Given the description of an element on the screen output the (x, y) to click on. 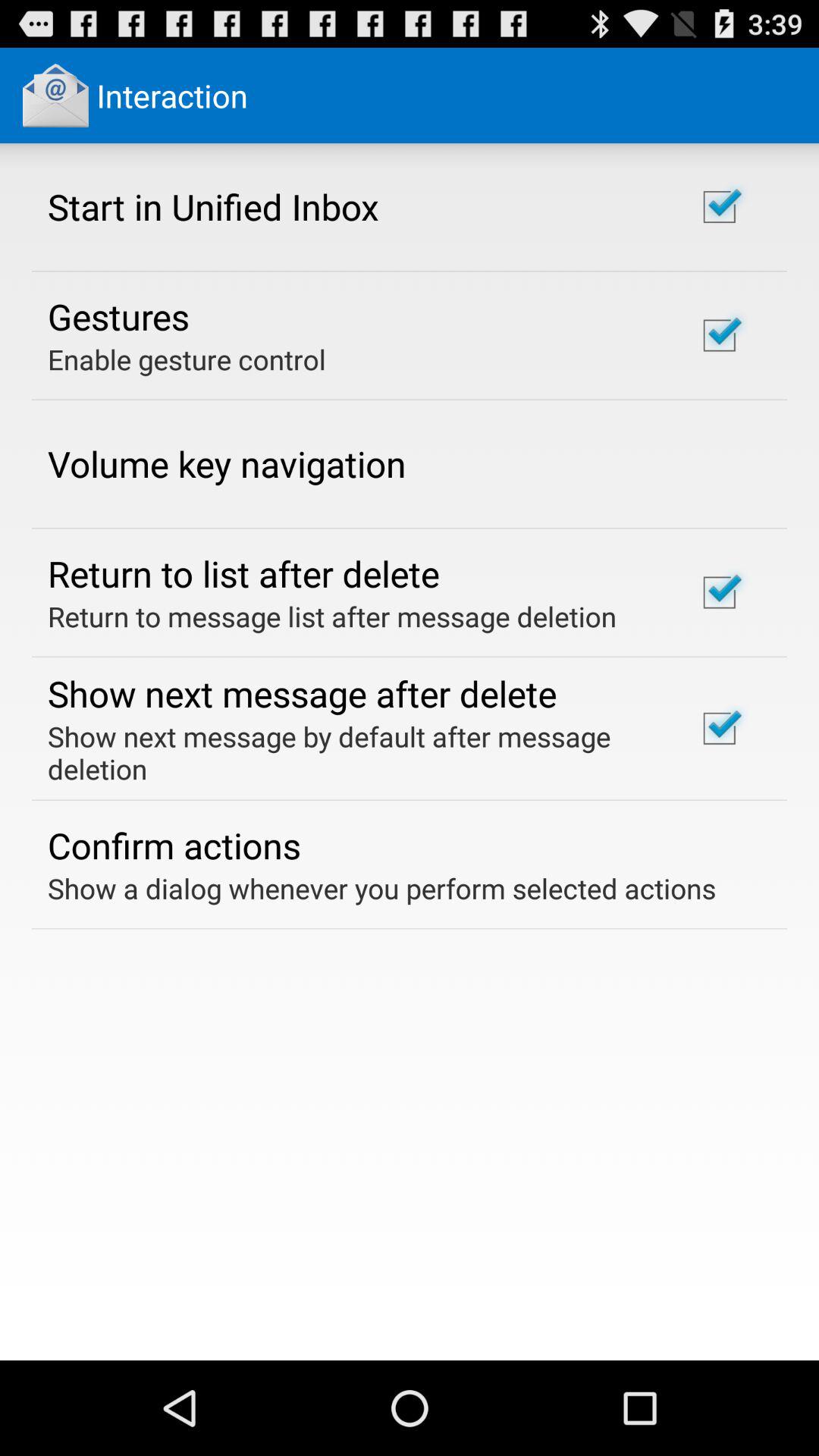
launch the icon above the show a dialog app (173, 845)
